Given the description of an element on the screen output the (x, y) to click on. 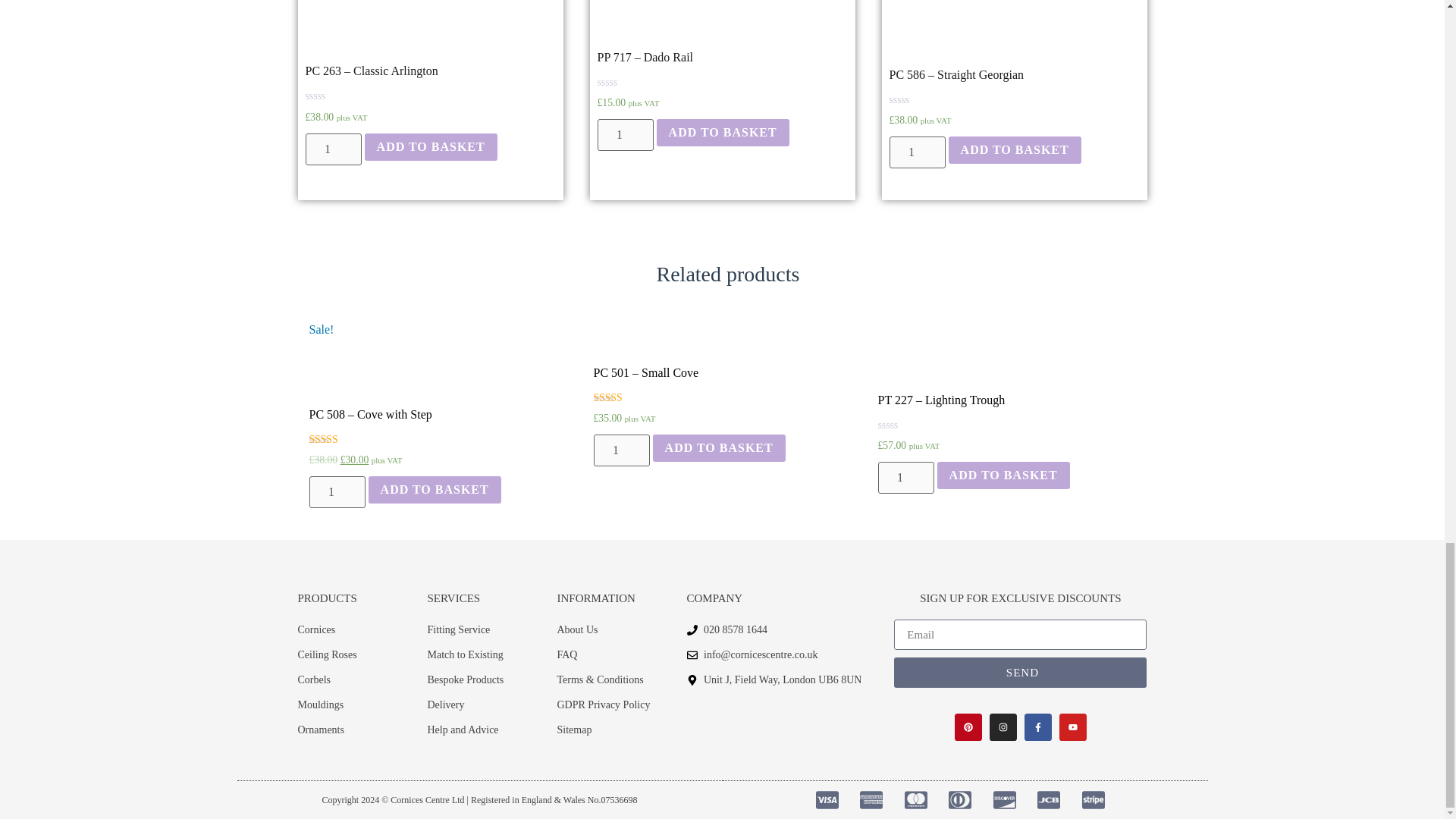
1 (624, 134)
1 (332, 149)
1 (620, 450)
1 (916, 152)
1 (336, 491)
1 (905, 477)
